Given the description of an element on the screen output the (x, y) to click on. 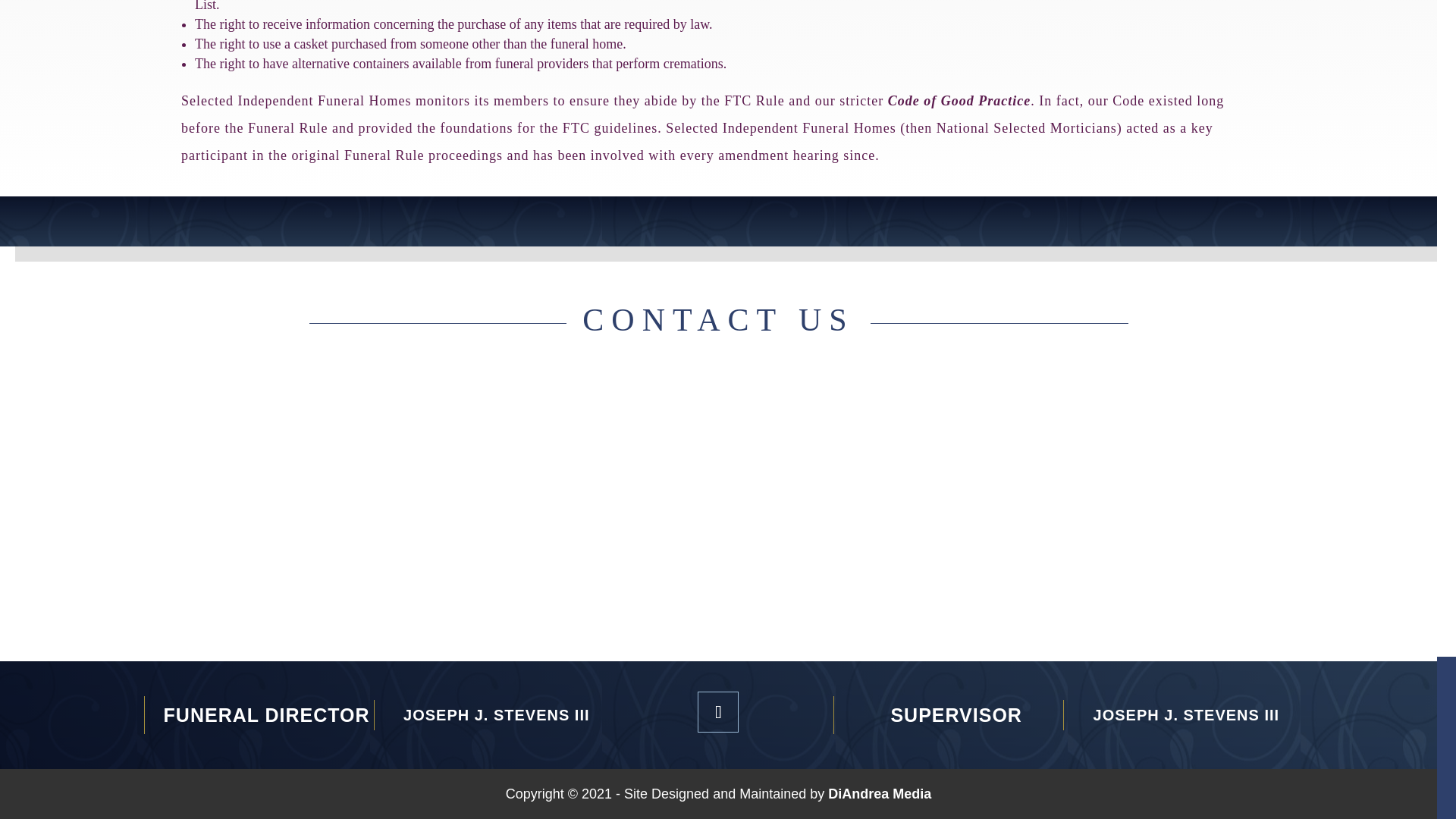
DiAndrea Media (879, 793)
Follow on Facebook (717, 711)
